Given the description of an element on the screen output the (x, y) to click on. 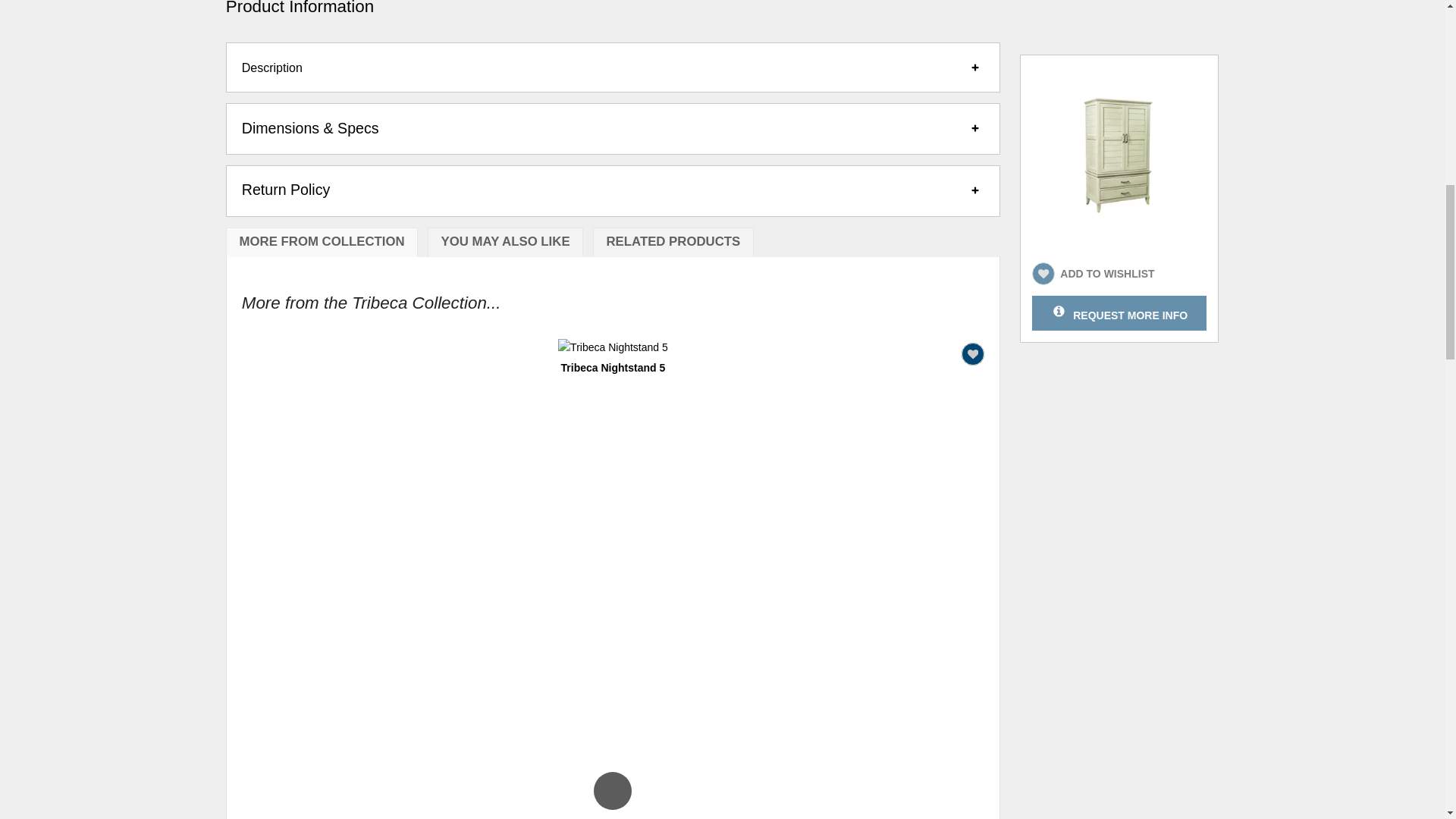
Add to Wishlist (972, 354)
Tribeca Nightstand 5 (612, 367)
